Given the description of an element on the screen output the (x, y) to click on. 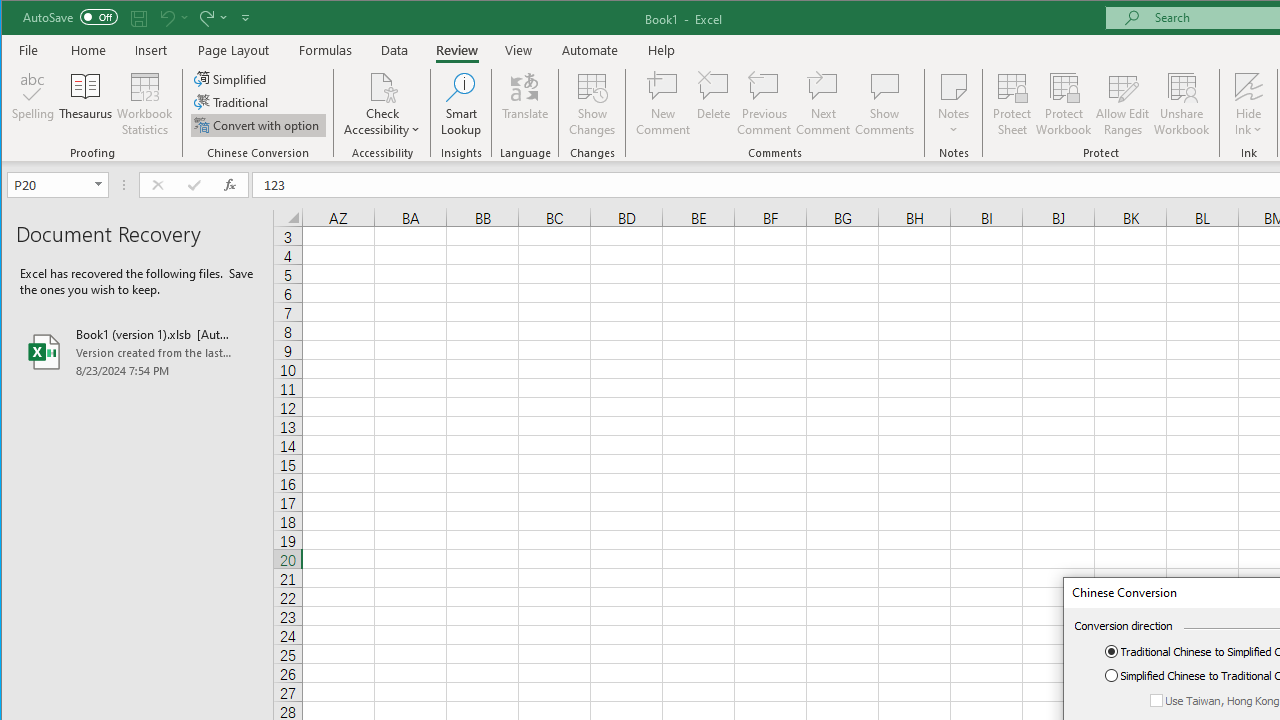
Traditional (232, 101)
Check Accessibility (381, 86)
Previous Comment (763, 104)
Protect Sheet... (1012, 104)
Translate (525, 104)
Convert with option (258, 124)
Delete (713, 104)
Next Comment (822, 104)
